Given the description of an element on the screen output the (x, y) to click on. 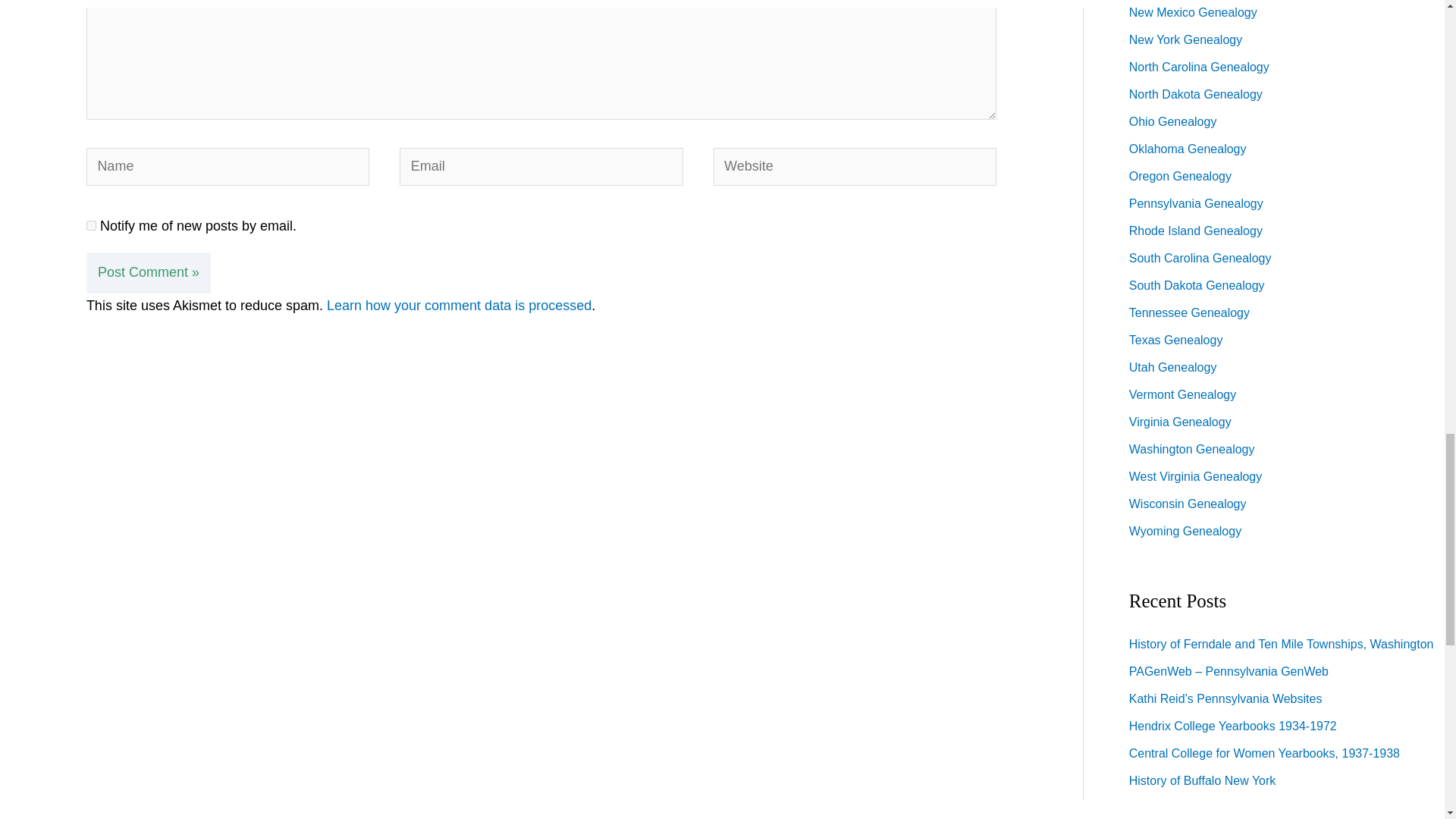
Learn how your comment data is processed (458, 305)
subscribe (90, 225)
